Given the description of an element on the screen output the (x, y) to click on. 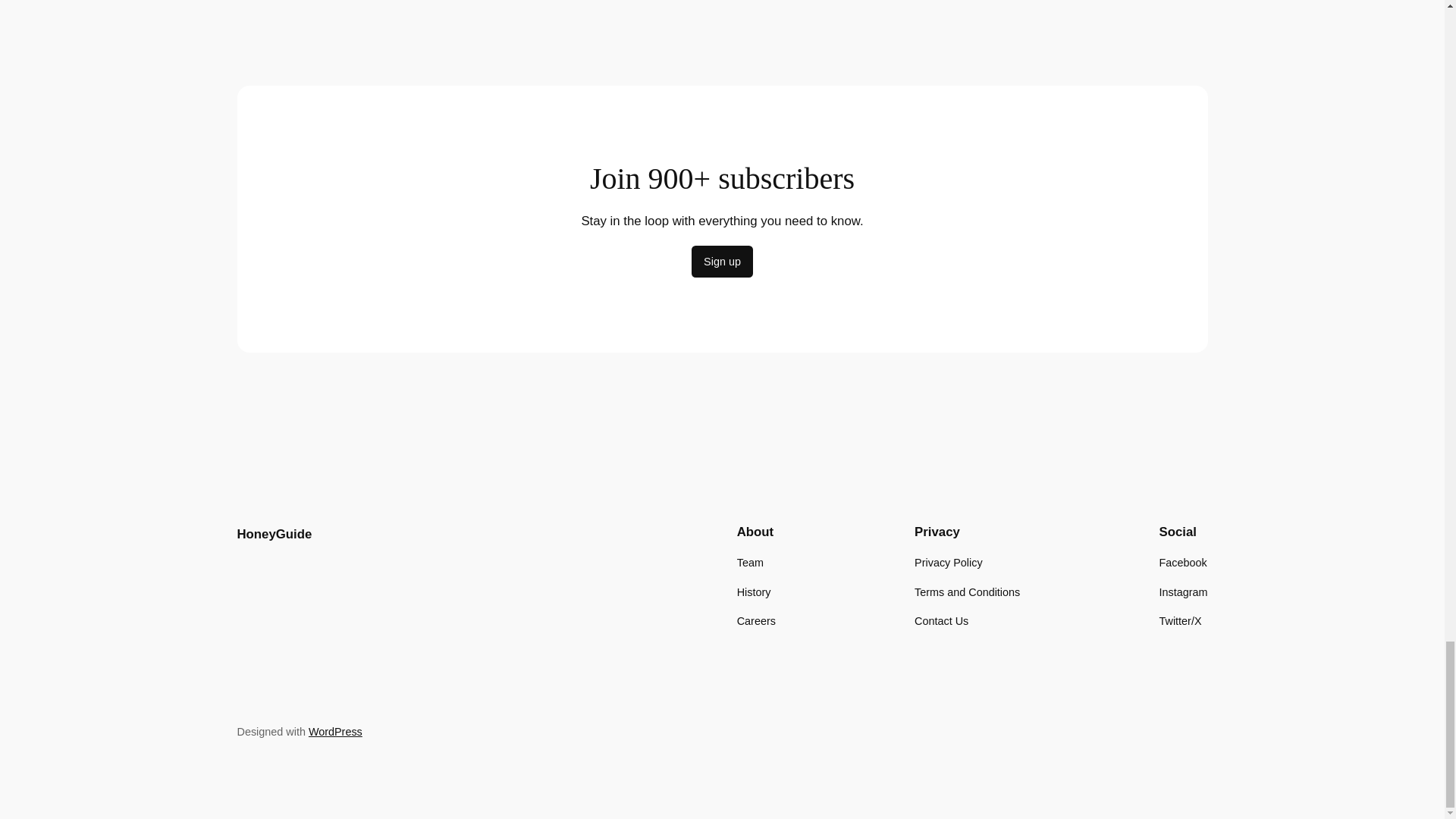
HoneyGuide (273, 534)
History (753, 591)
WordPress (335, 731)
Facebook (1182, 562)
Careers (756, 620)
Terms and Conditions (967, 591)
Team (749, 562)
Privacy Policy (948, 562)
Sign up (721, 261)
Contact Us (941, 620)
